Given the description of an element on the screen output the (x, y) to click on. 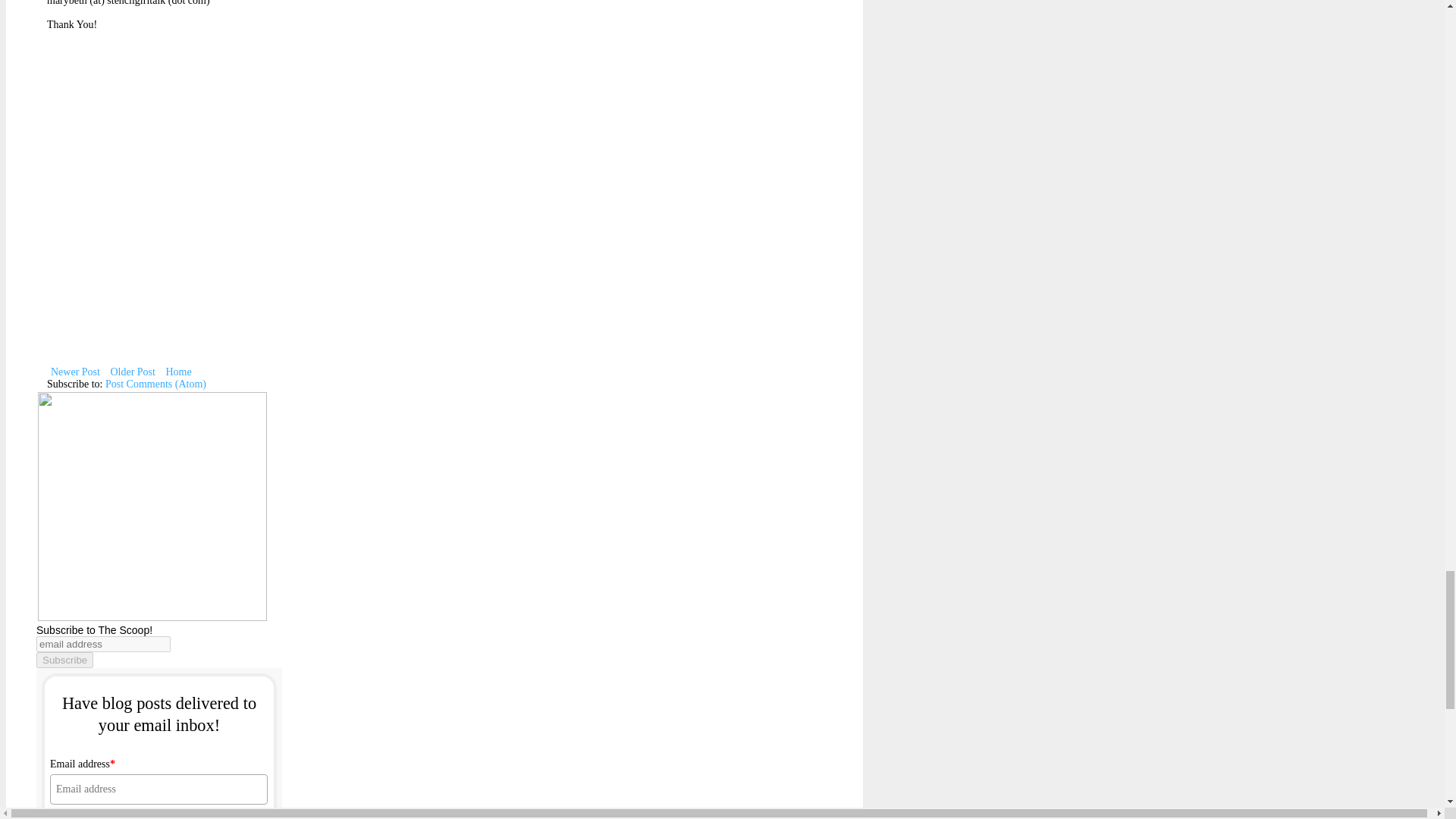
click to join (158, 817)
Email address (158, 788)
Older Post (132, 371)
Subscribe (64, 659)
Newer Post (74, 371)
